Given the description of an element on the screen output the (x, y) to click on. 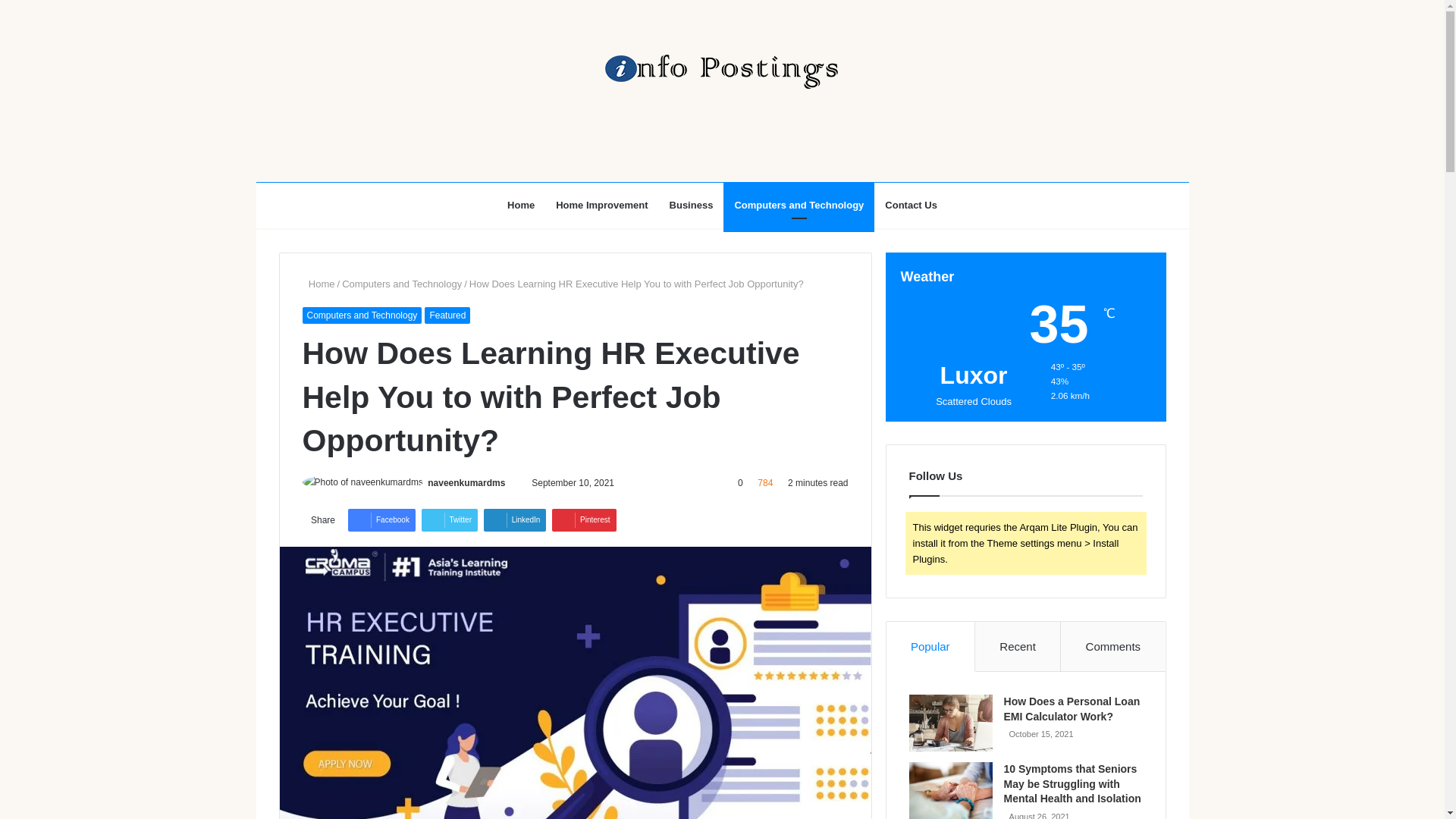
Pinterest (583, 519)
Home Improvement (601, 205)
Facebook (380, 519)
Twitter (449, 519)
Home (520, 205)
naveenkumardms (466, 482)
Facebook (380, 519)
LinkedIn (515, 519)
Featured (447, 315)
Computers and Technology (401, 283)
Info Postings (721, 71)
Pinterest (583, 519)
Computers and Technology (799, 205)
